Given the description of an element on the screen output the (x, y) to click on. 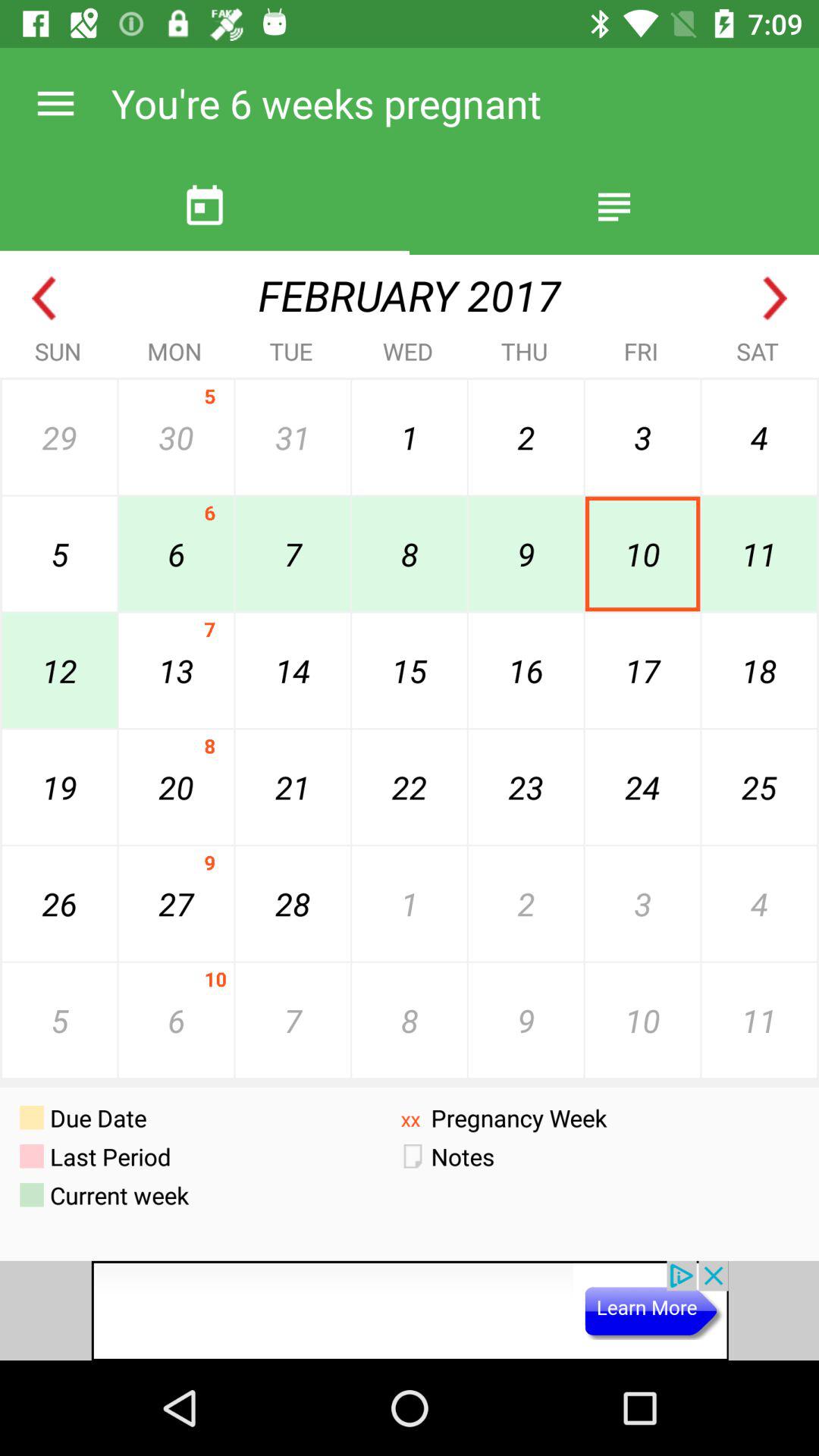
go back (43, 298)
